Given the description of an element on the screen output the (x, y) to click on. 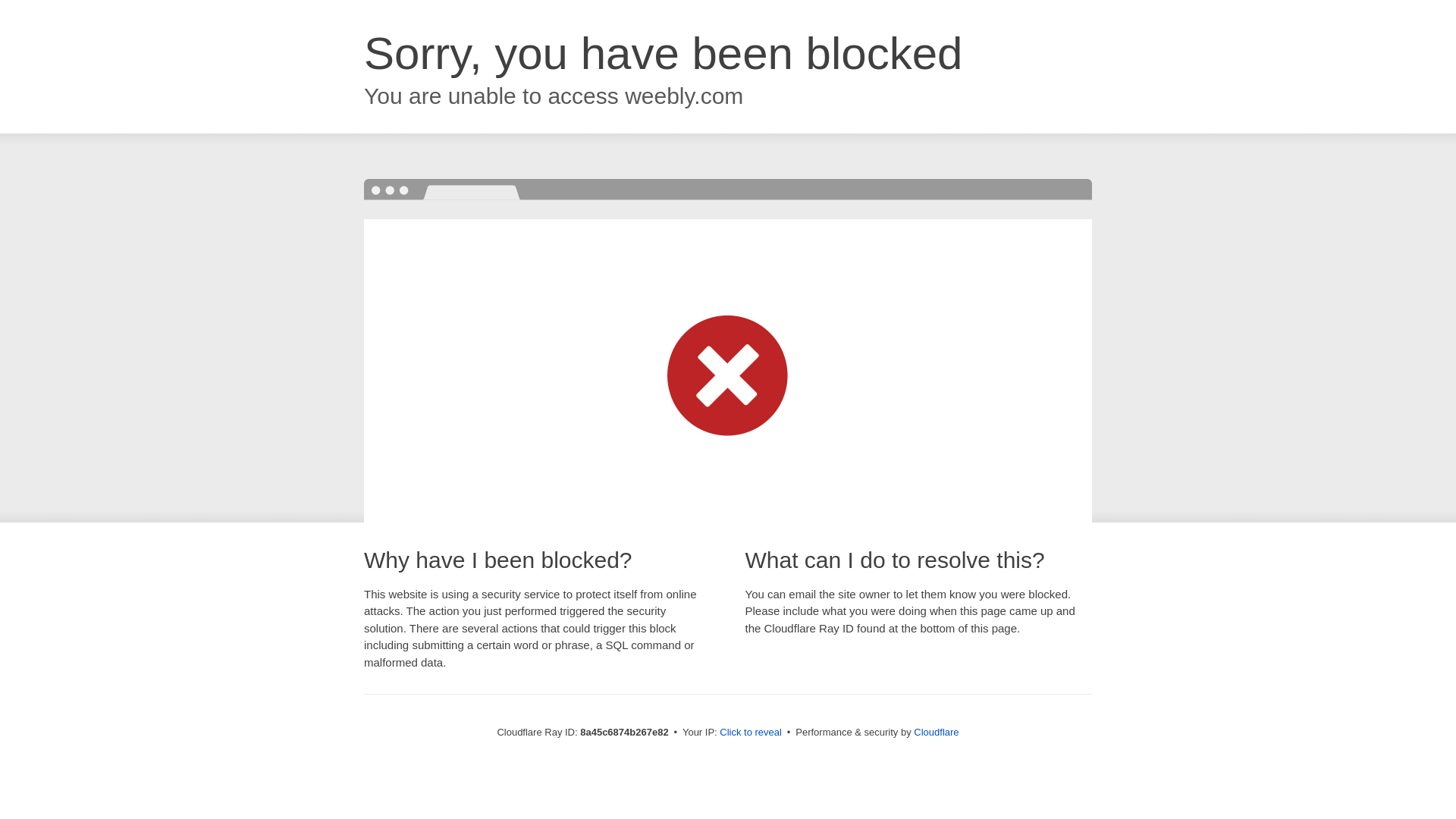
Cloudflare (936, 731)
Click to reveal (750, 732)
